Given the description of an element on the screen output the (x, y) to click on. 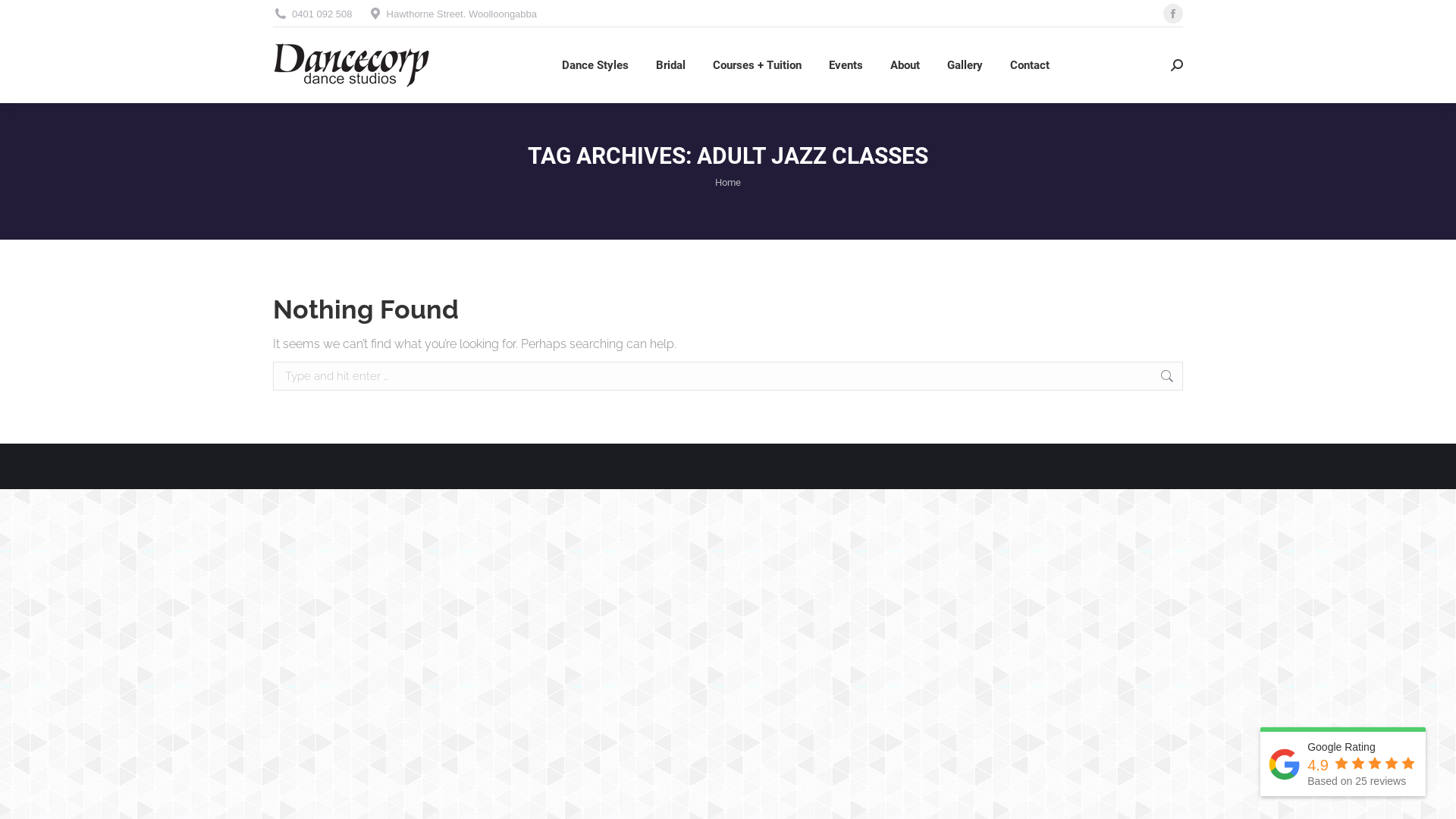
About Element type: text (904, 64)
Go! Element type: text (23, 16)
Facebook page opens in new window Element type: text (1173, 13)
Go! Element type: text (1206, 378)
Home Element type: text (727, 182)
Bridal Element type: text (669, 64)
Gallery Element type: text (964, 64)
Events Element type: text (845, 64)
Courses + Tuition Element type: text (756, 64)
Dance Styles Element type: text (594, 64)
Contact Element type: text (1029, 64)
